Given the description of an element on the screen output the (x, y) to click on. 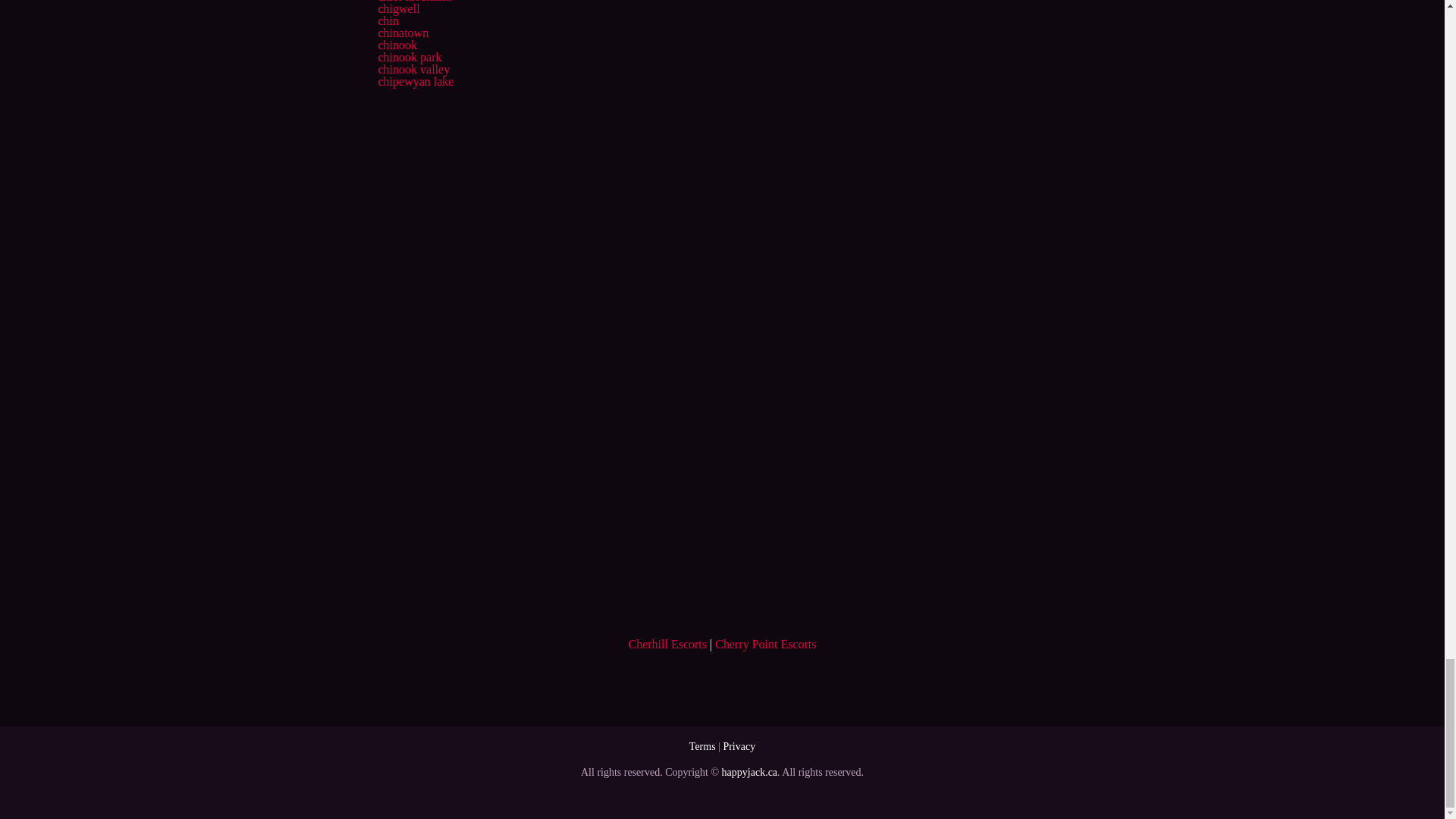
chinook (396, 44)
chief mountain (413, 1)
Terms (702, 746)
chigwell (398, 8)
Privacy (738, 746)
chinook park (409, 56)
Privacy (738, 746)
chin (387, 20)
Terms (702, 746)
Cherry Point Escorts (764, 644)
chipewyan lake (414, 81)
Cherhill Escorts (666, 644)
chinook valley (413, 69)
happyjack.ca (749, 772)
chinatown (402, 32)
